Given the description of an element on the screen output the (x, y) to click on. 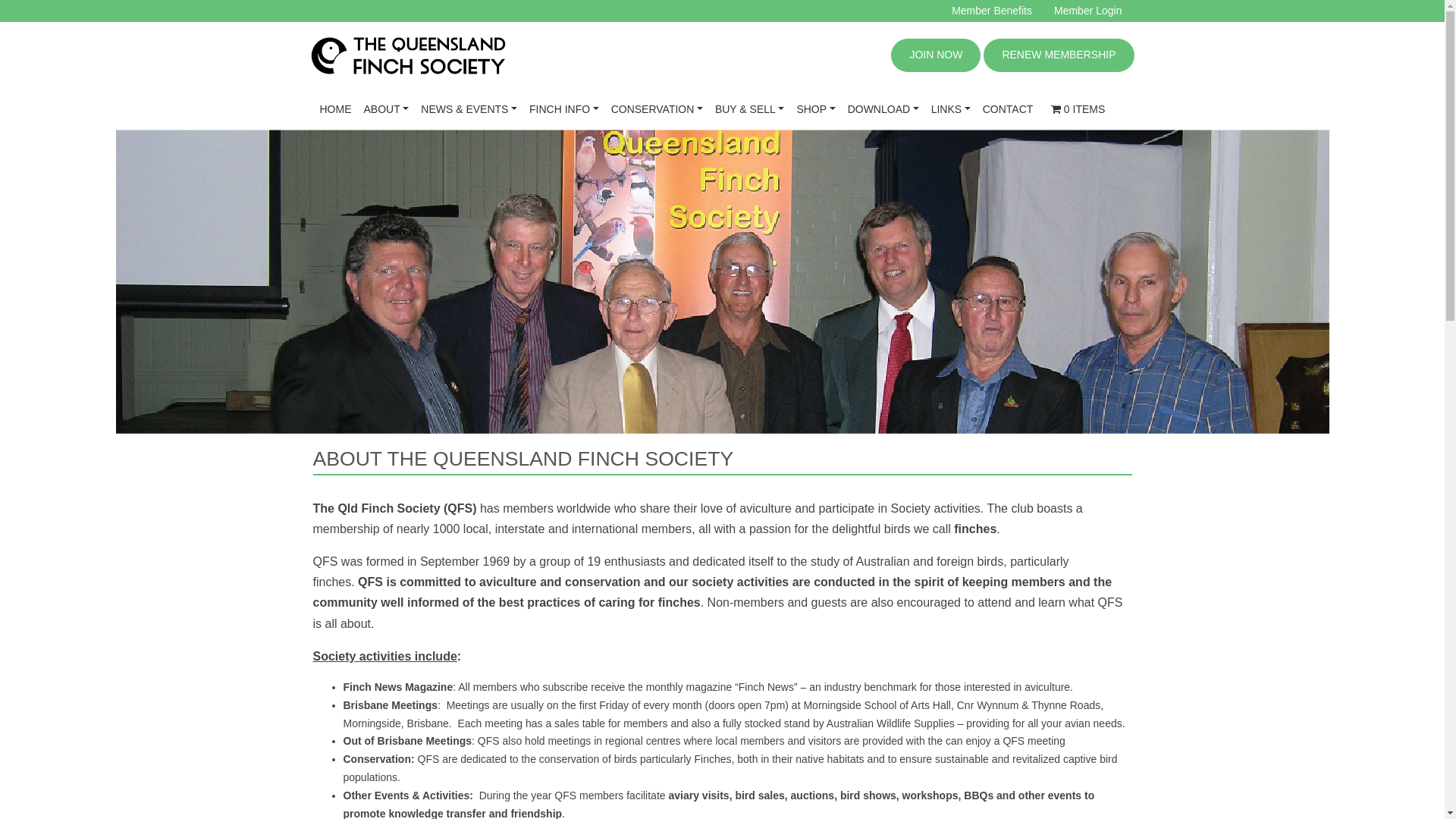
HOME Element type: text (335, 109)
NEWS & EVENTS Element type: text (468, 109)
FINCH INFO Element type: text (564, 109)
BUY & SELL Element type: text (749, 109)
SHOP Element type: text (815, 109)
LINKS Element type: text (950, 109)
CONTACT Element type: text (1007, 109)
DOWNLOAD Element type: text (883, 109)
Member Benefits Element type: text (991, 10)
0 ITEMS Element type: text (1077, 109)
subpage-banner-01 Element type: hover (721, 281)
CONSERVATION Element type: text (657, 109)
Member Login Element type: text (1088, 10)
ABOUT Element type: text (386, 109)
JOIN NOW Element type: text (935, 55)
RENEW MEMBERSHIP Element type: text (1058, 55)
